Given the description of an element on the screen output the (x, y) to click on. 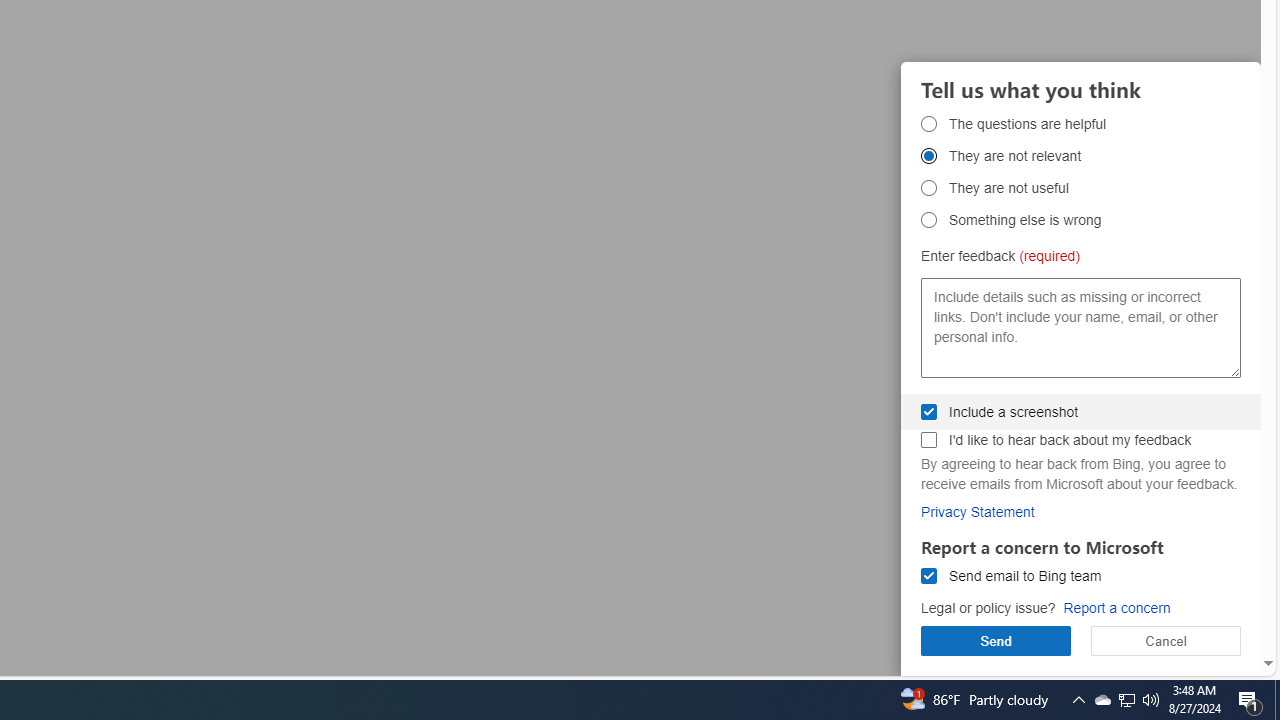
The questions are helpful The questions are helpful (928, 123)
Include a screenshot Include a screenshot (928, 411)
AutomationID: fbpgdgcmchk (928, 439)
Privacy Statement (978, 511)
AutomationID: fbpgdgSmtngWrong (928, 219)
They are not relevant They are not relevant (928, 156)
Cancel (1165, 640)
Something else is wrong Something else is wrong (928, 219)
AutomationID: fbpgdgsat (928, 123)
Send (996, 640)
They are not useful They are not useful (928, 187)
Send email to Bing team Send email to Bing team (928, 575)
Report a concern (1116, 607)
